Given the description of an element on the screen output the (x, y) to click on. 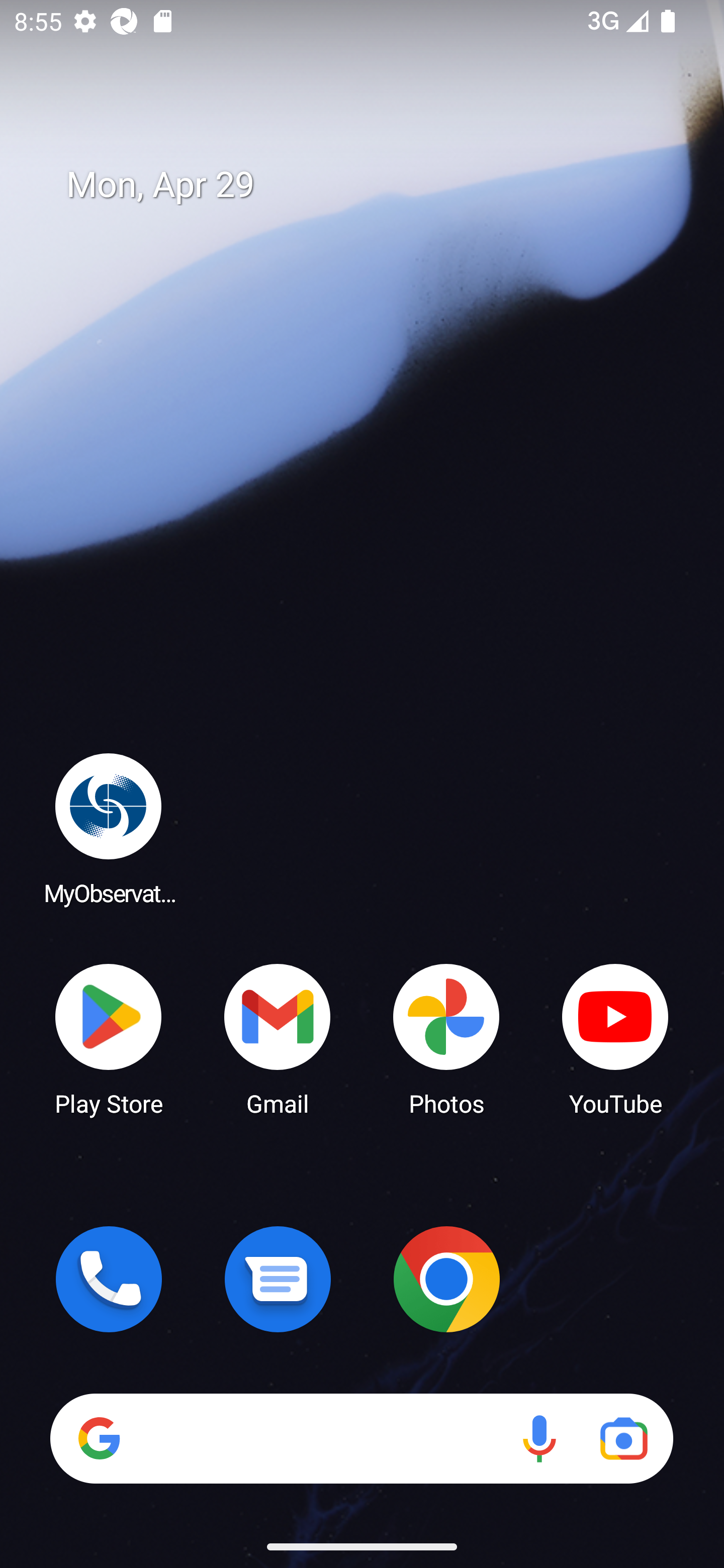
Mon, Apr 29 (375, 184)
MyObservatory (108, 828)
Play Store (108, 1038)
Gmail (277, 1038)
Photos (445, 1038)
YouTube (615, 1038)
Phone (108, 1279)
Messages (277, 1279)
Chrome (446, 1279)
Voice search (539, 1438)
Google Lens (623, 1438)
